Given the description of an element on the screen output the (x, y) to click on. 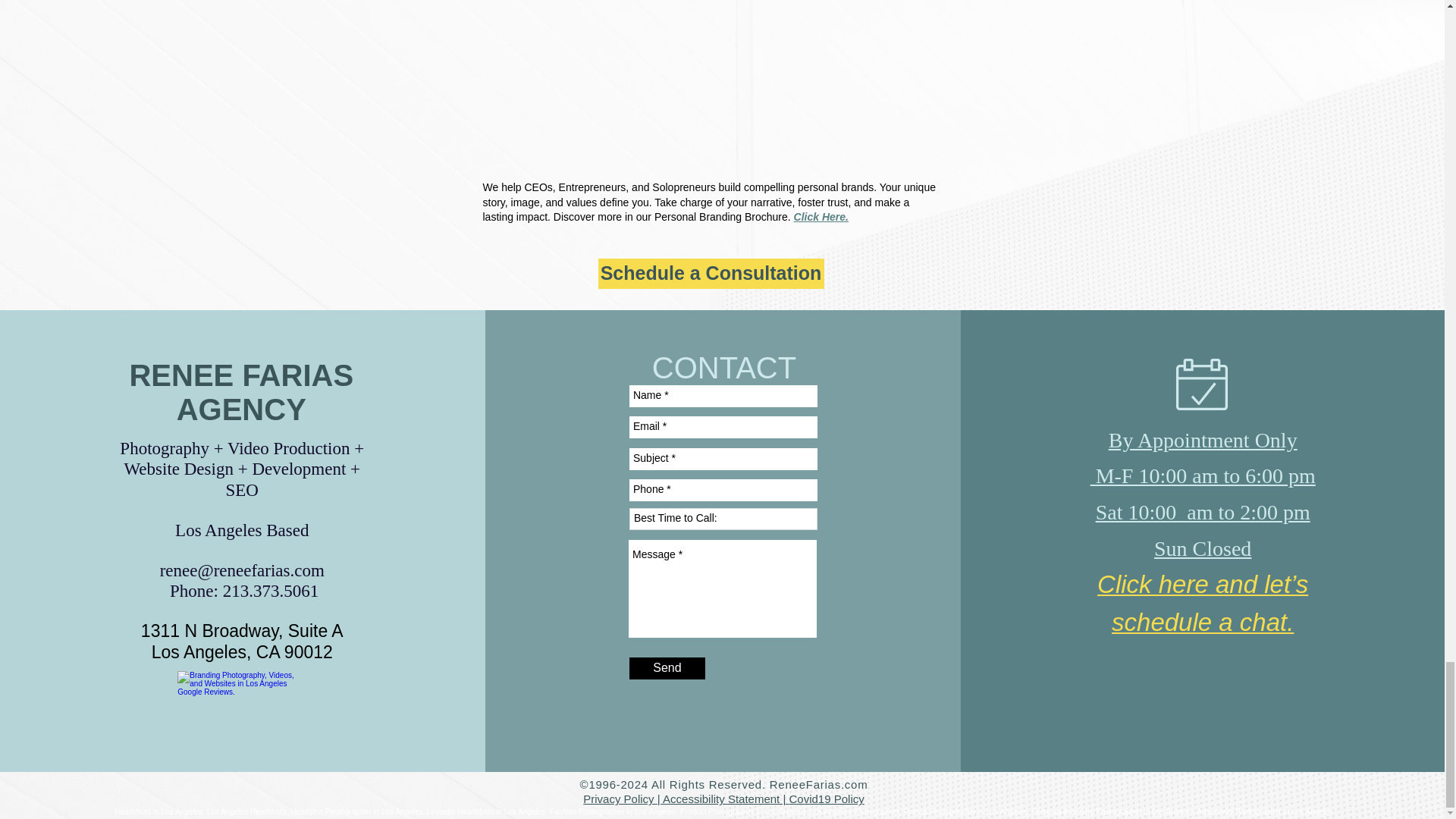
Click Here. (820, 216)
Personal Branding Visual Media Services in Los Angeles (710, 84)
Business Photogaphy, Videos and Websites in Los Angeles. (239, 706)
Schedule a Consultation (710, 273)
Send (666, 668)
